Given the description of an element on the screen output the (x, y) to click on. 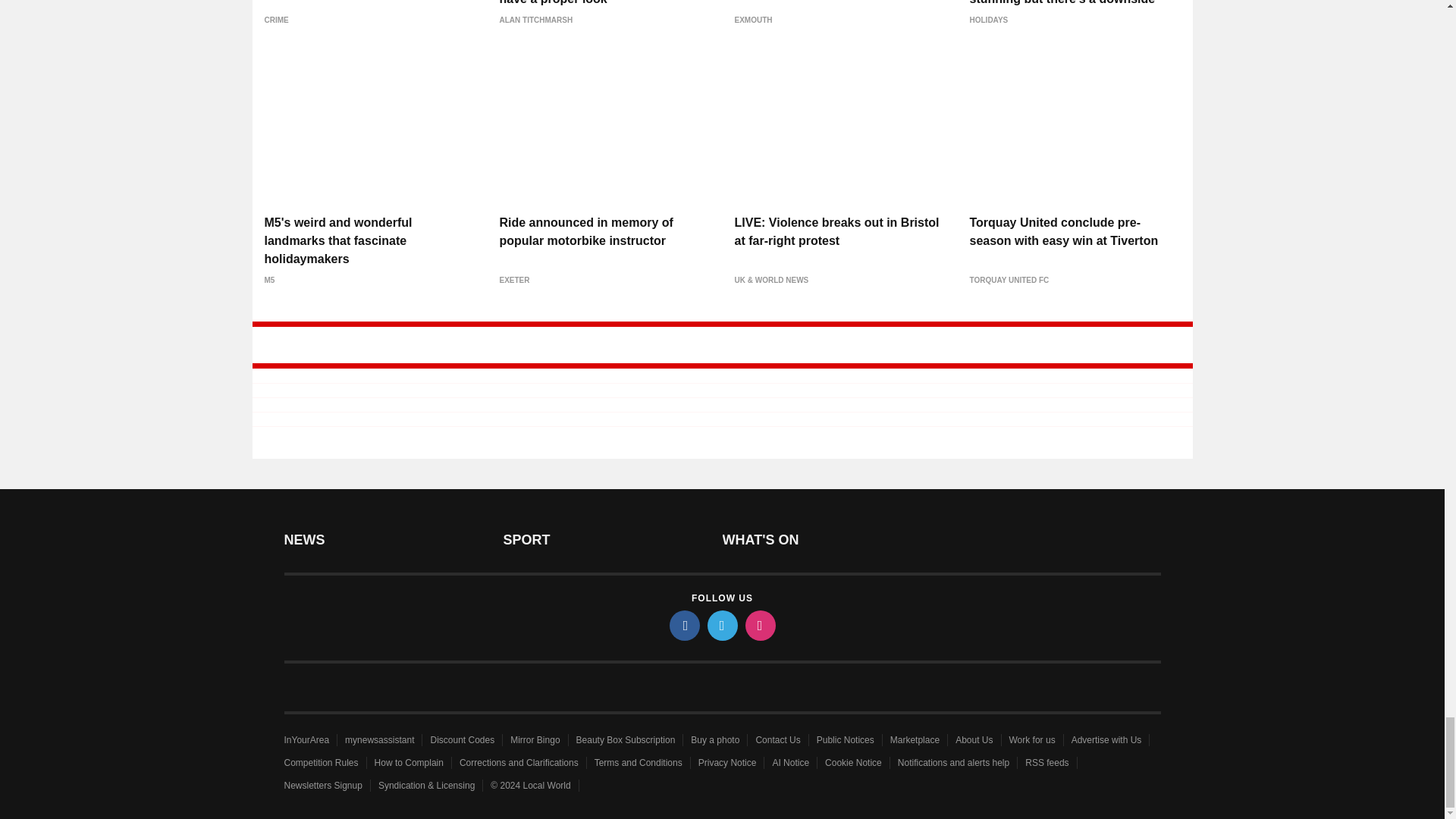
twitter (721, 625)
facebook (683, 625)
instagram (759, 625)
